Given the description of an element on the screen output the (x, y) to click on. 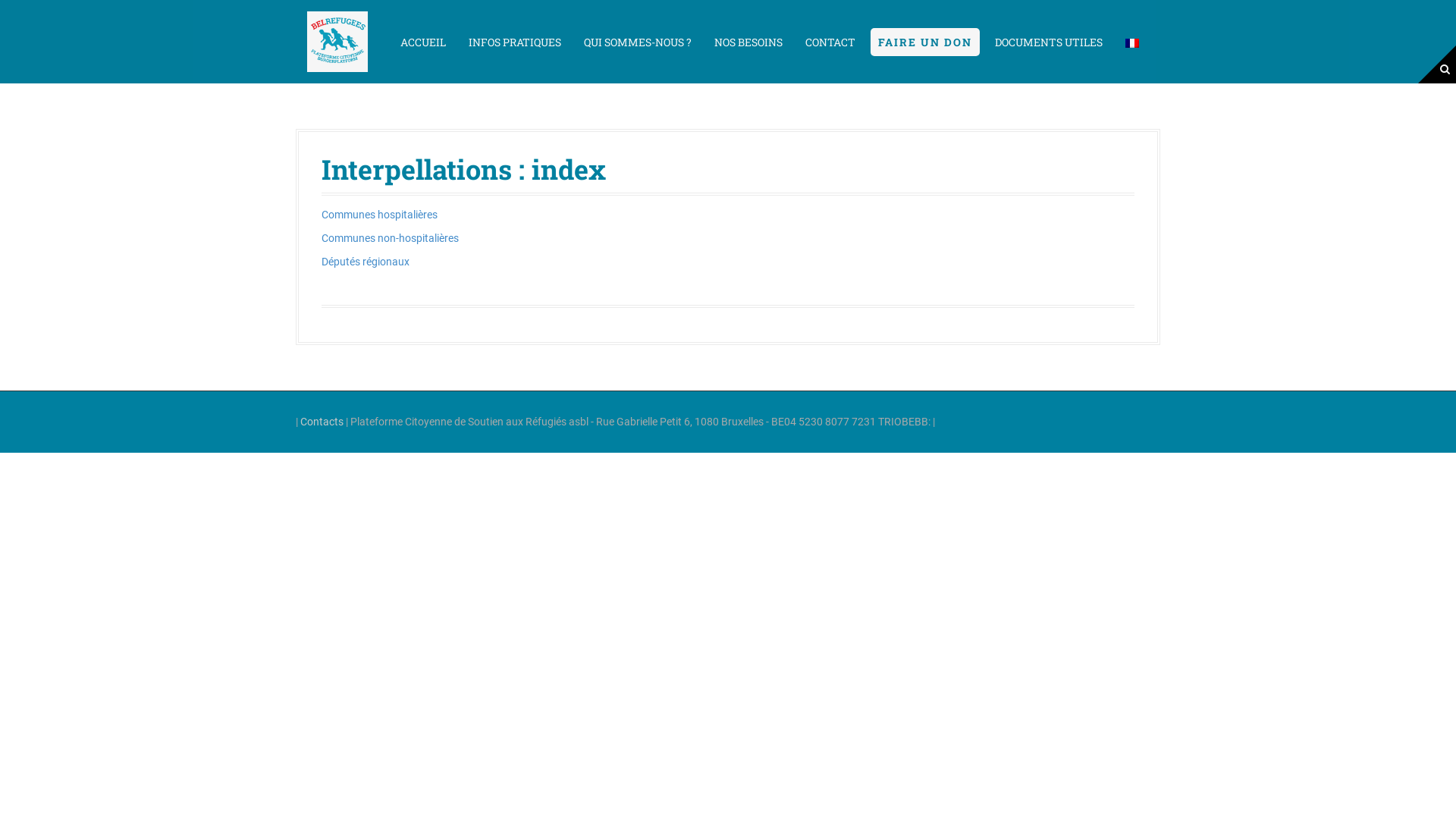
Contacts Element type: text (321, 421)
NOS BESOINS Element type: text (748, 41)
CONTACT Element type: text (830, 41)
BelRefugees Element type: hover (337, 40)
QUI SOMMES-NOUS ? Element type: text (637, 41)
INFOS PRATIQUES Element type: text (514, 41)
DOCUMENTS UTILES Element type: text (1048, 41)
ACCUEIL Element type: text (422, 41)
FAIRE UN DON Element type: text (925, 41)
